Given the description of an element on the screen output the (x, y) to click on. 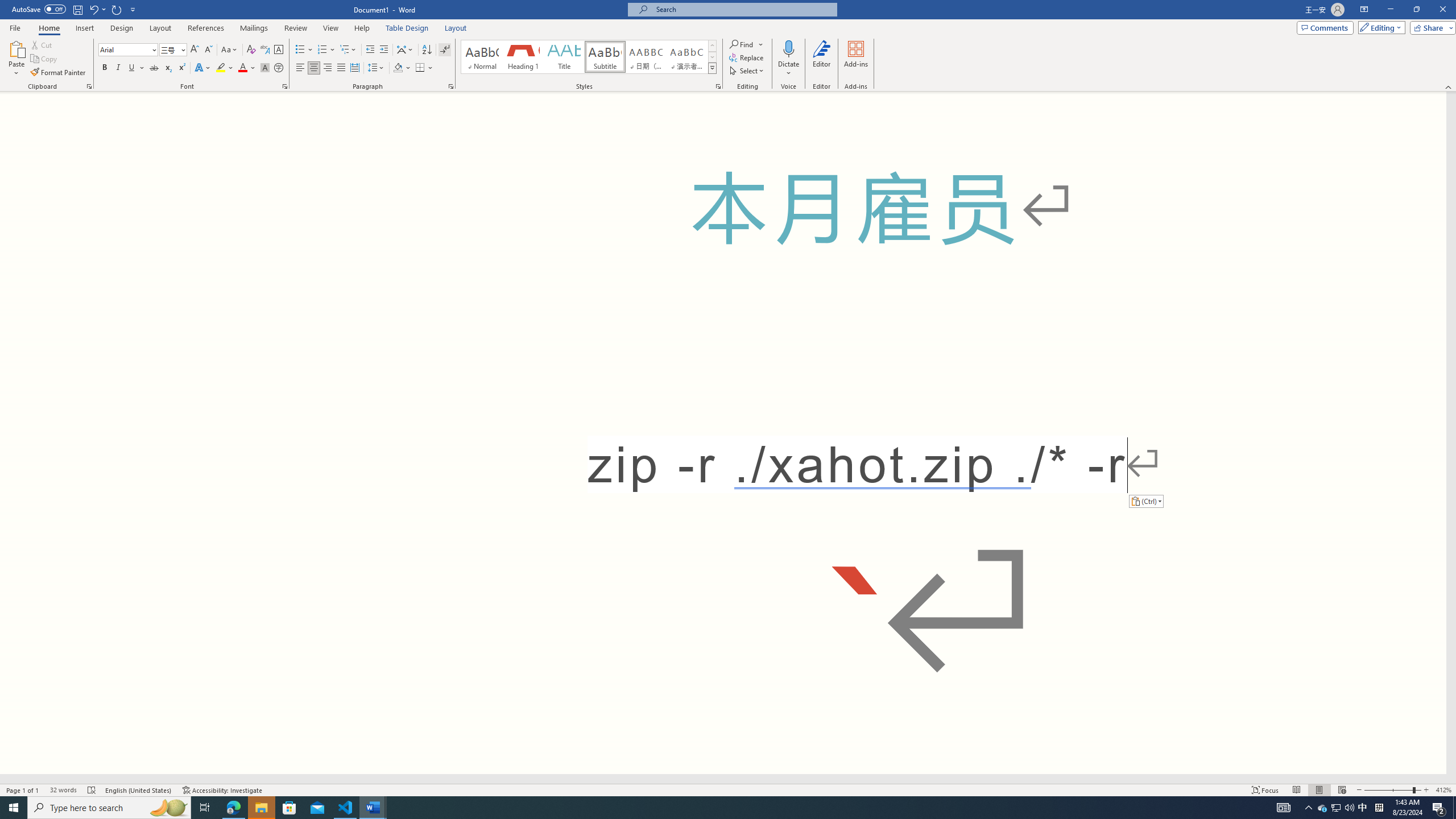
Editing (1379, 27)
Word Count 32 words (63, 790)
Font Color Red (241, 67)
